Given the description of an element on the screen output the (x, y) to click on. 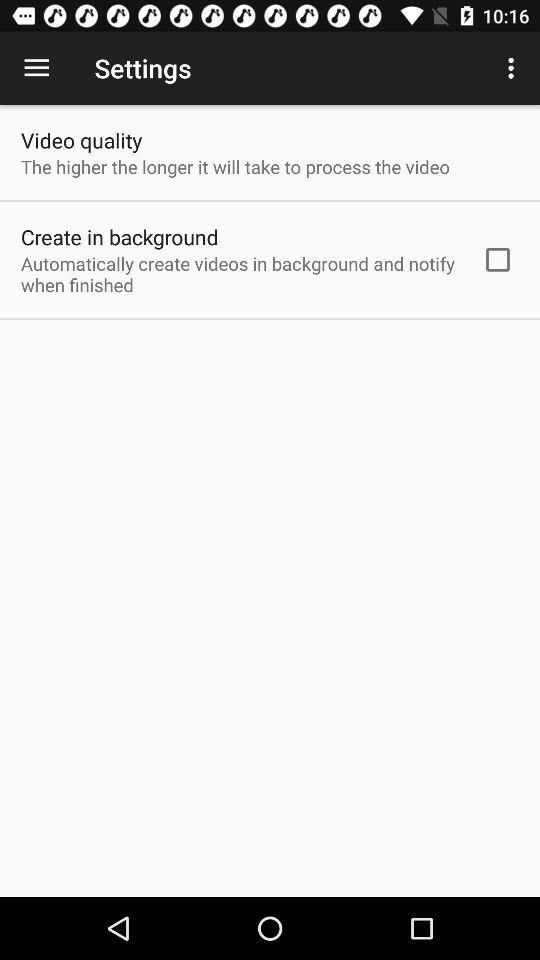
press video quality icon (81, 139)
